Given the description of an element on the screen output the (x, y) to click on. 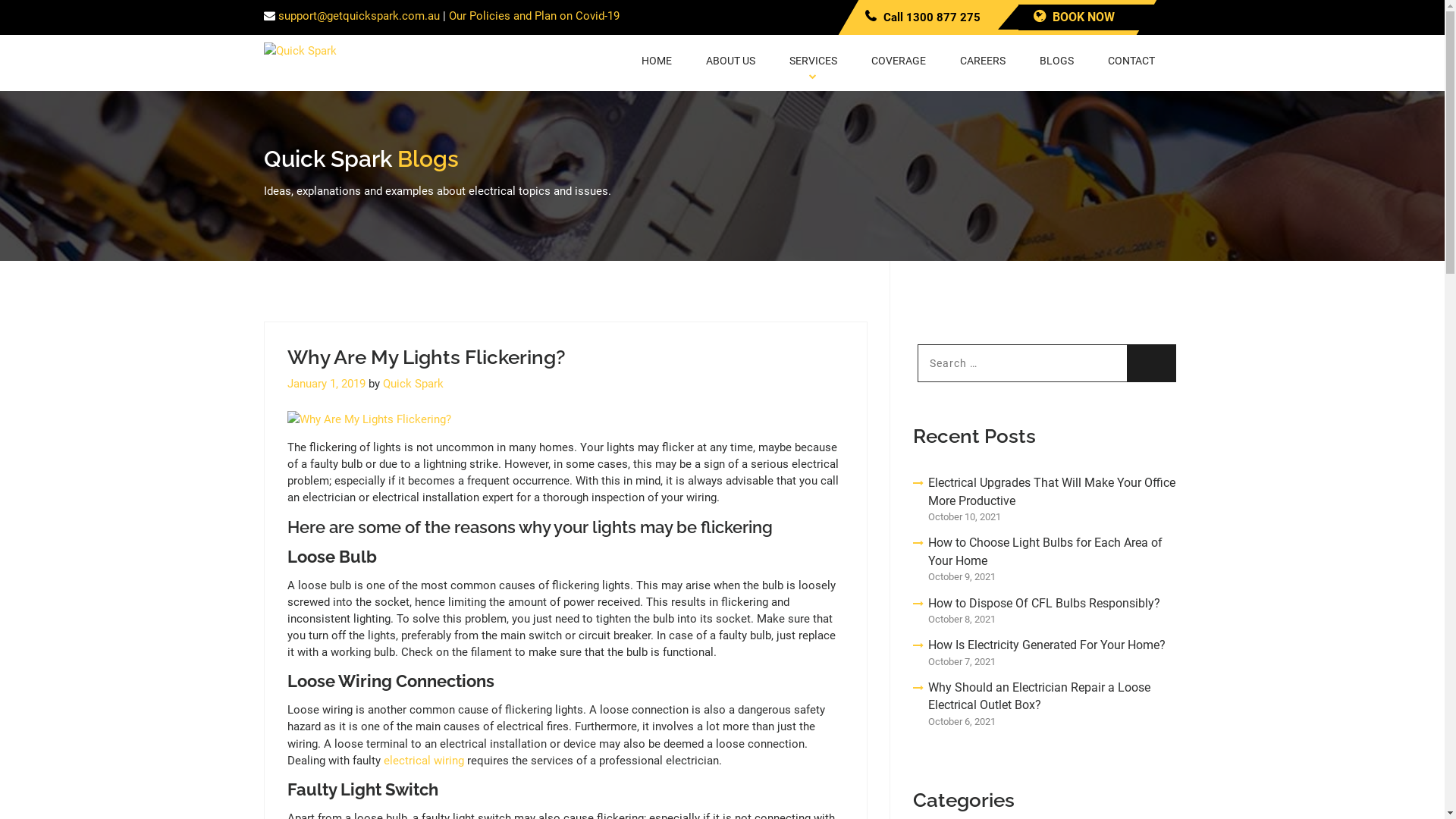
SERVICES Element type: text (812, 62)
ABOUT US Element type: text (729, 54)
electrical wiring Element type: text (423, 760)
CAREERS Element type: text (982, 54)
Quick Spark Element type: text (412, 383)
How to Choose Light Bulbs for Each Area of Your Home Element type: text (1045, 551)
BLOGS Element type: text (1055, 54)
Our Policies and Plan on Covid-19 Element type: text (533, 15)
January 1, 2019 Element type: text (325, 383)
CONTACT Element type: text (1130, 54)
COVERAGE Element type: text (897, 54)
How Is Electricity Generated For Your Home? Element type: text (1046, 644)
support@getquickspark.com.au Element type: text (358, 15)
How to Dispose Of CFL Bulbs Responsibly? Element type: text (1044, 603)
HOME Element type: text (656, 54)
BOOK NOW Element type: text (1073, 16)
Search Element type: text (1151, 363)
1300 877 275 Element type: text (943, 17)
